Given the description of an element on the screen output the (x, y) to click on. 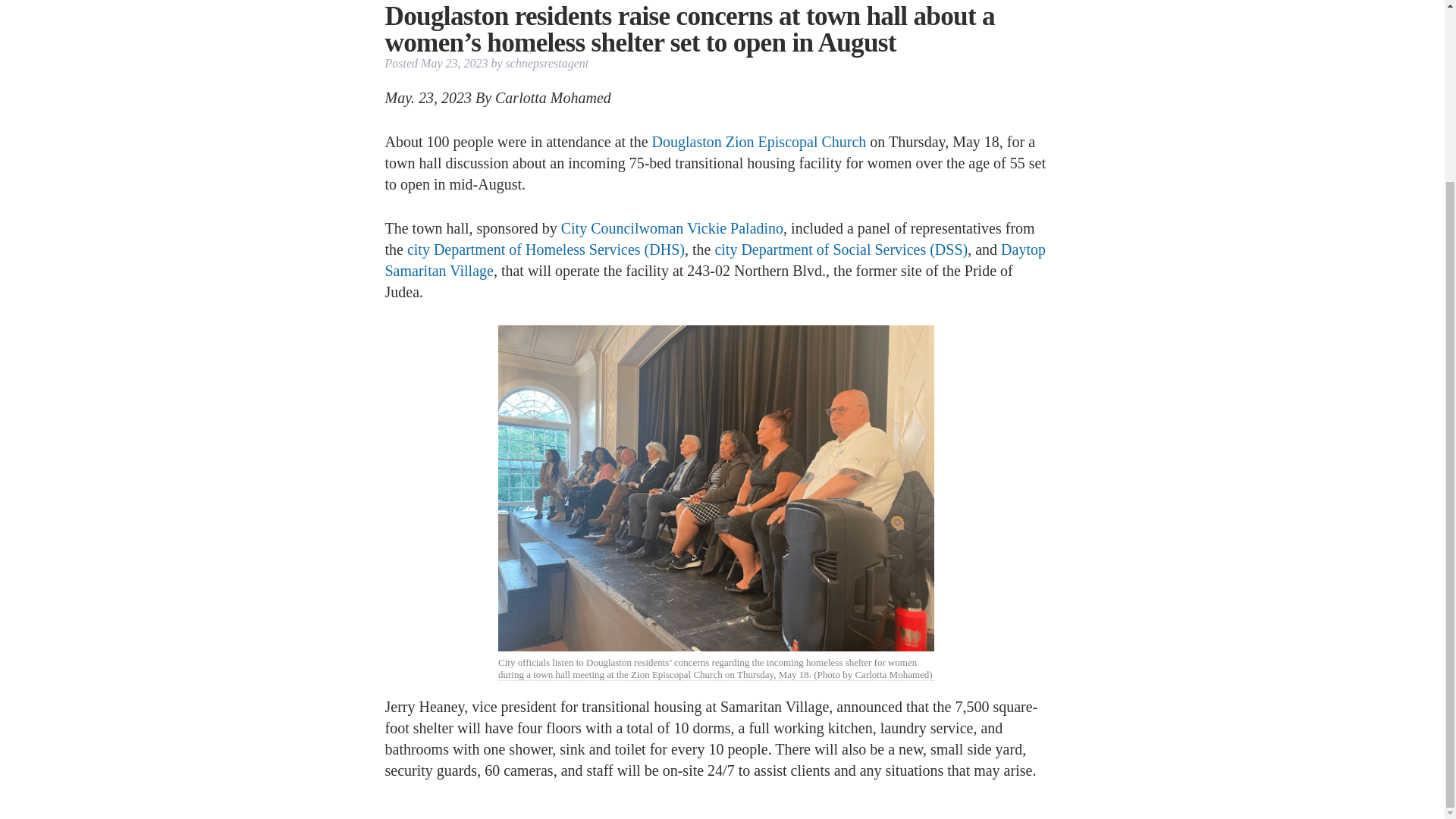
Daytop Samaritan Village (715, 259)
City Councilwoman Vickie Paladino (671, 228)
Douglaston Zion Episcopal Church (759, 141)
